Given the description of an element on the screen output the (x, y) to click on. 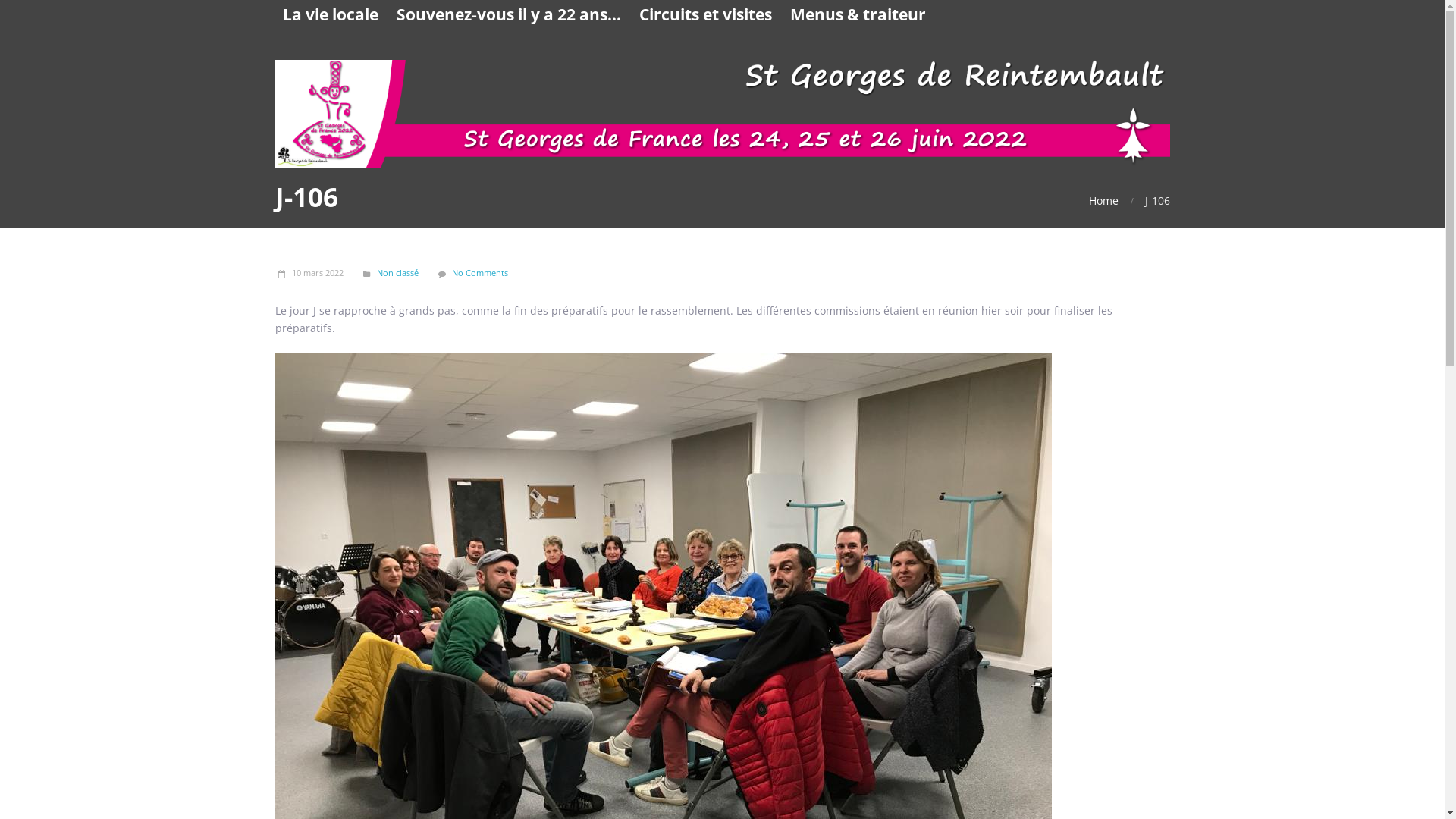
Menus & traiteur Element type: text (857, 14)
La vie locale Element type: text (329, 14)
Home Element type: text (1103, 200)
Circuits et visites Element type: text (704, 14)
No Comments Element type: text (479, 272)
